Given the description of an element on the screen output the (x, y) to click on. 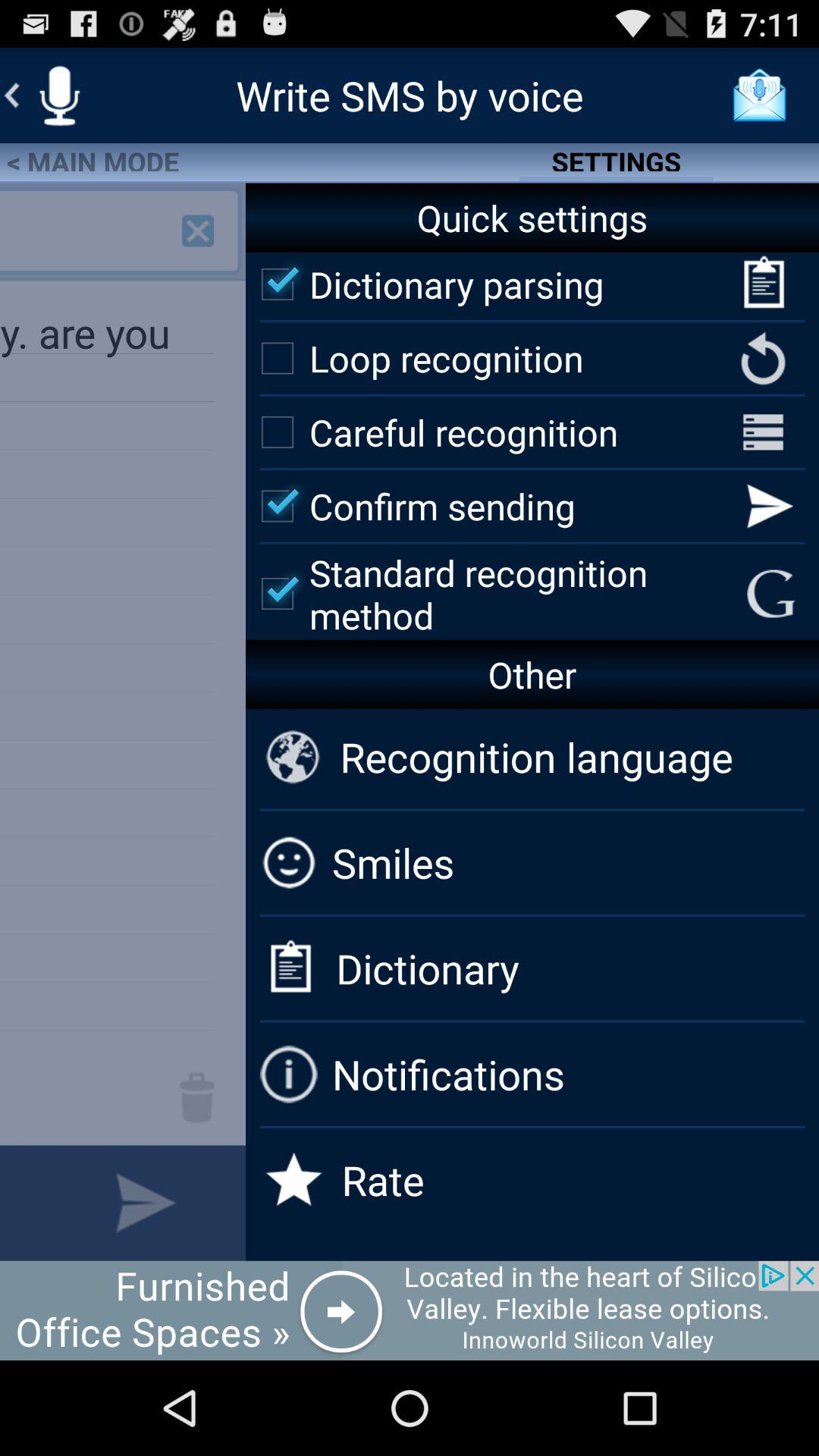
message sending option (145, 1202)
